Given the description of an element on the screen output the (x, y) to click on. 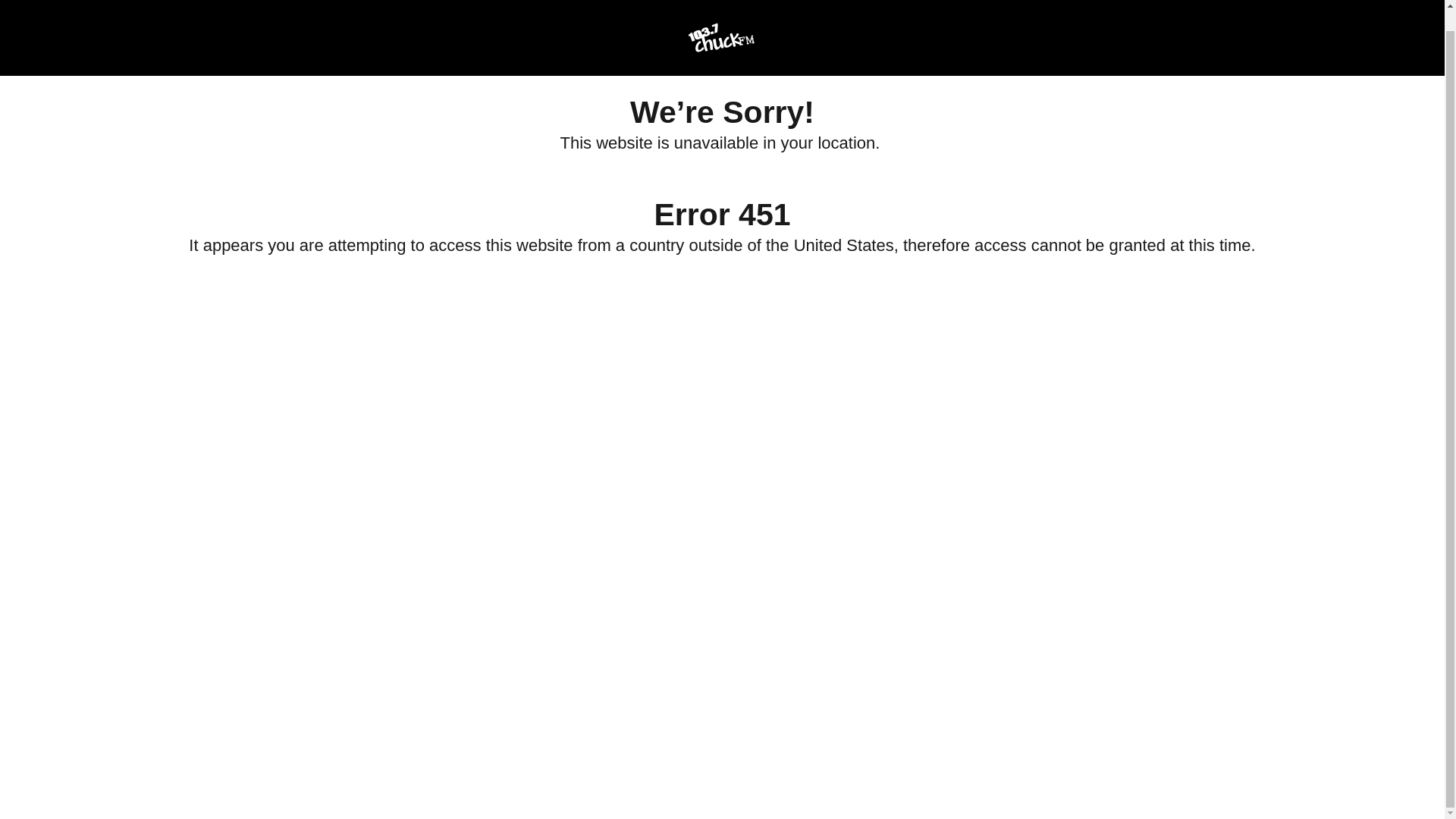
103.7 Chuck FM (721, 17)
